Given the description of an element on the screen output the (x, y) to click on. 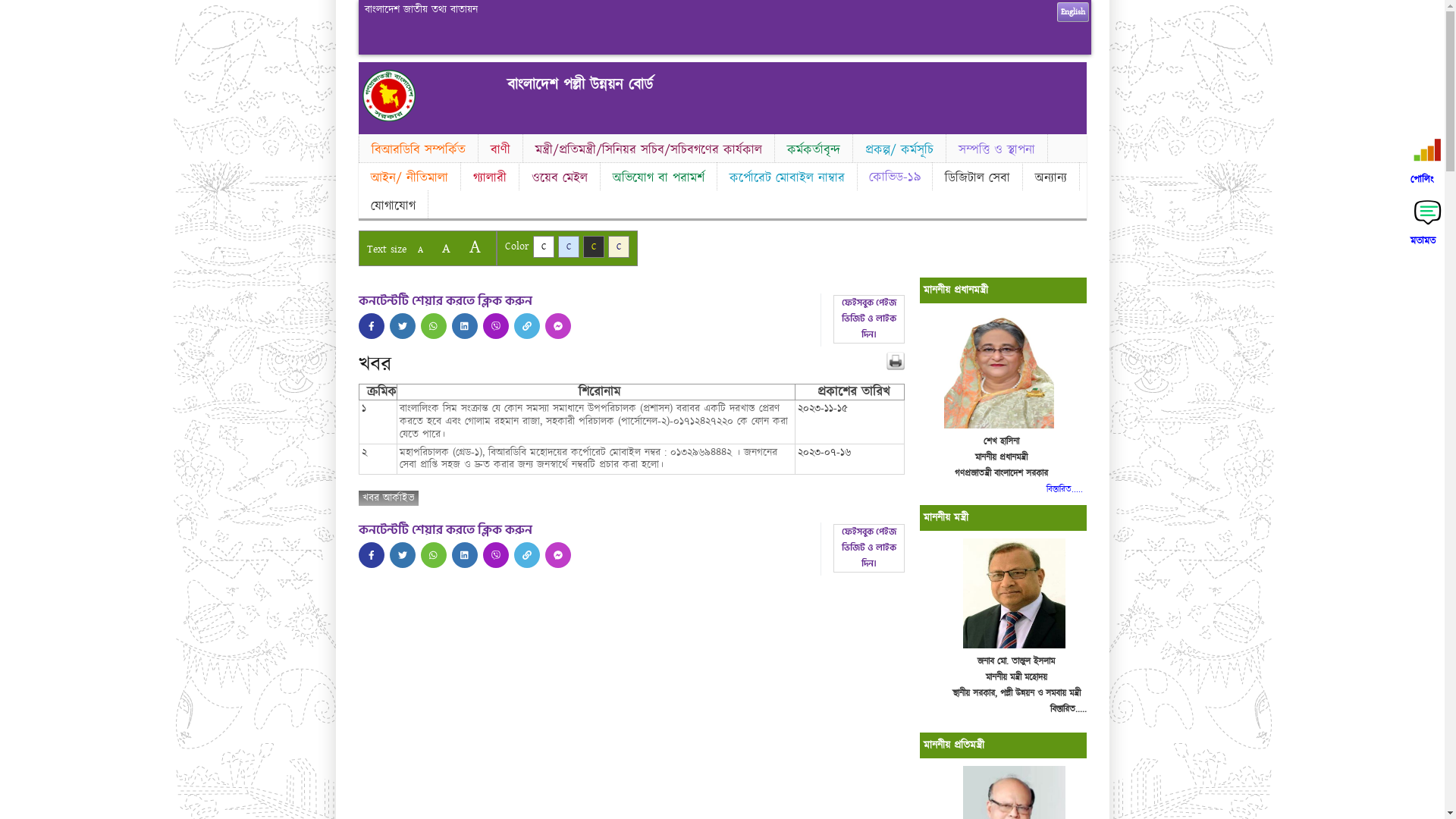
A Element type: text (445, 248)
English Element type: text (1072, 11)
A Element type: text (419, 249)
C Element type: text (592, 246)
Home Element type: hover (388, 117)
C Element type: text (568, 246)
C Element type: text (618, 246)
C Element type: text (542, 246)
A Element type: text (474, 246)
